Given the description of an element on the screen output the (x, y) to click on. 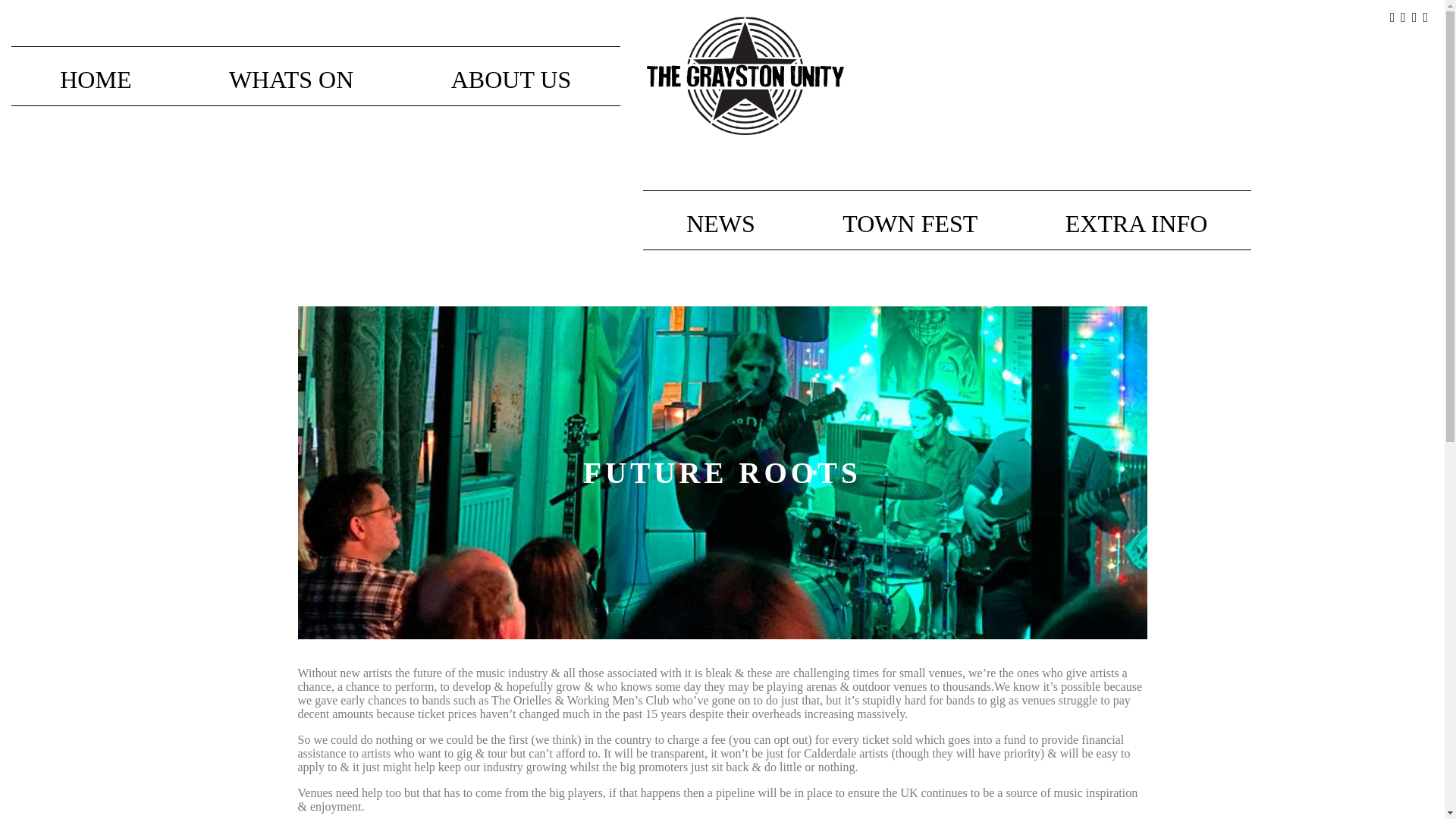
TOWN FEST (910, 223)
EXTRA INFO (1136, 223)
NEWS (721, 223)
ABOUT US (511, 79)
HOME (95, 79)
WHATS ON (291, 79)
